Given the description of an element on the screen output the (x, y) to click on. 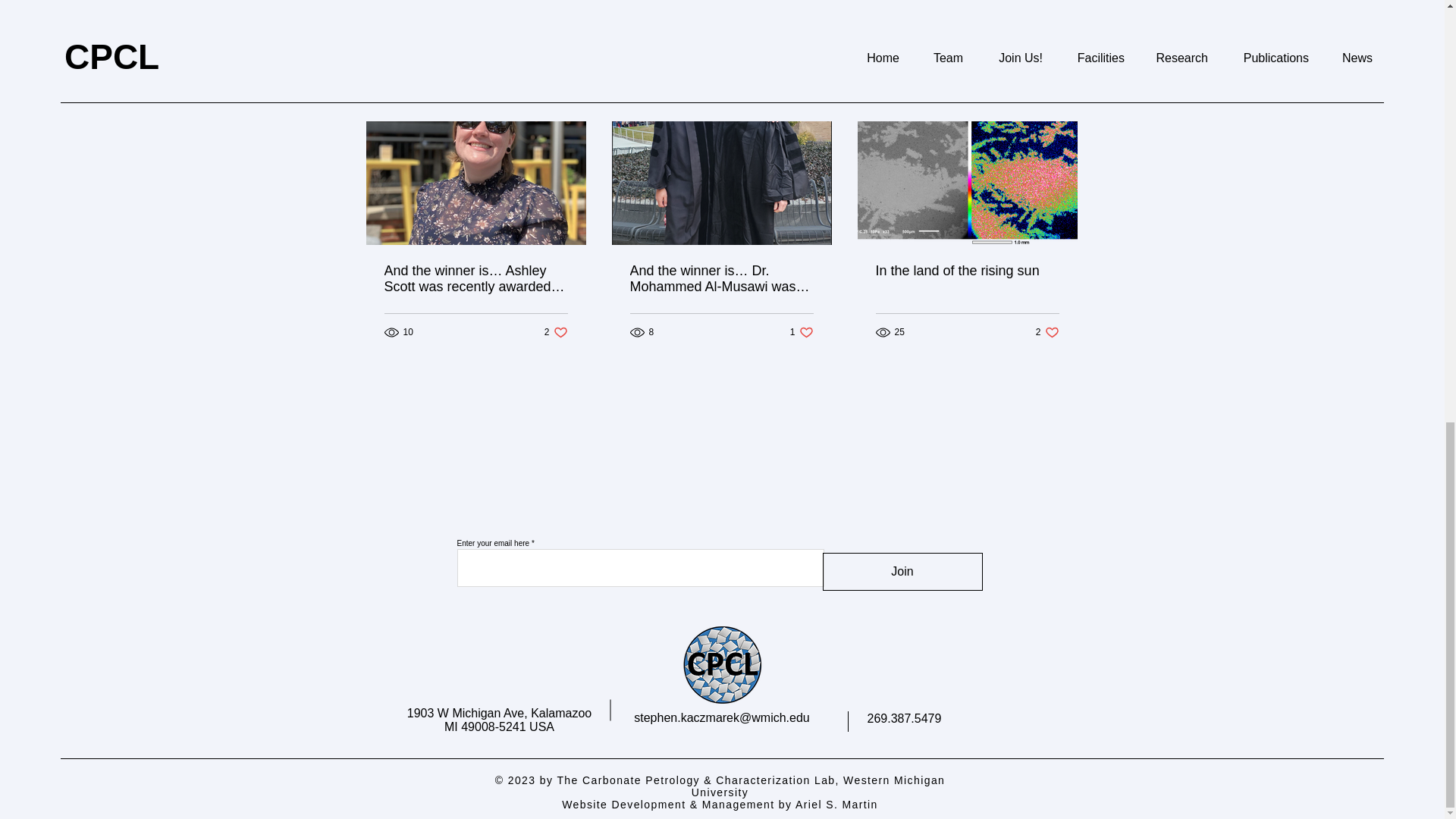
In the land of the rising sun (966, 270)
See All (1061, 95)
Join (1047, 332)
CPCL.png (801, 332)
Post not marked as liked (901, 571)
